Given the description of an element on the screen output the (x, y) to click on. 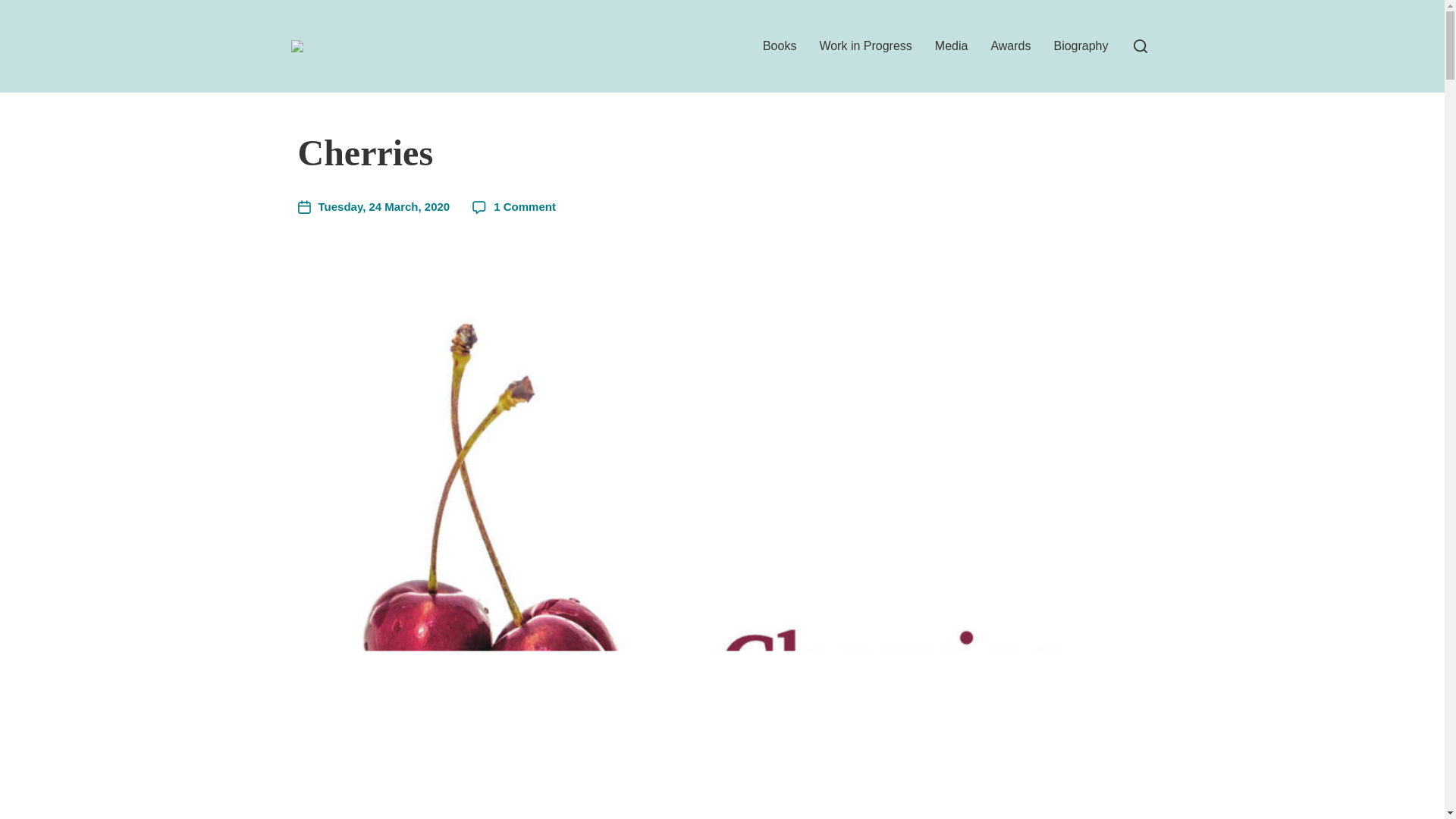
Books (779, 46)
Awards (1010, 46)
Tuesday, 24 March, 2020 (373, 207)
Media (951, 46)
Biography (1080, 46)
1 Comment (524, 205)
Work in Progress (864, 46)
